Given the description of an element on the screen output the (x, y) to click on. 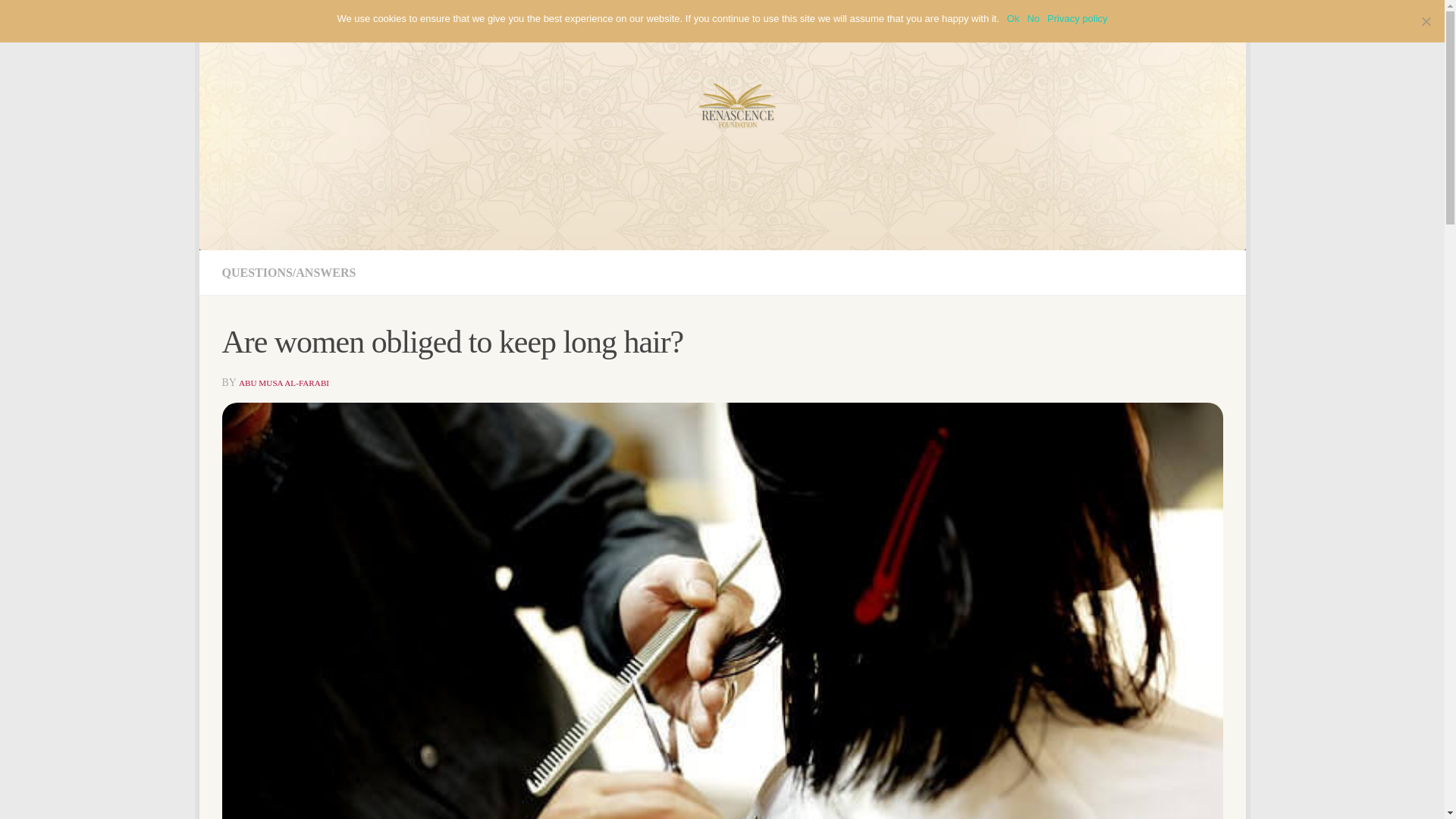
SCHOLARSHIP (601, 18)
Skip to content (258, 20)
ABOUT US (456, 18)
Posts by Abu Musa Al-Farabi (283, 382)
THEOLOGY (525, 18)
